Given the description of an element on the screen output the (x, y) to click on. 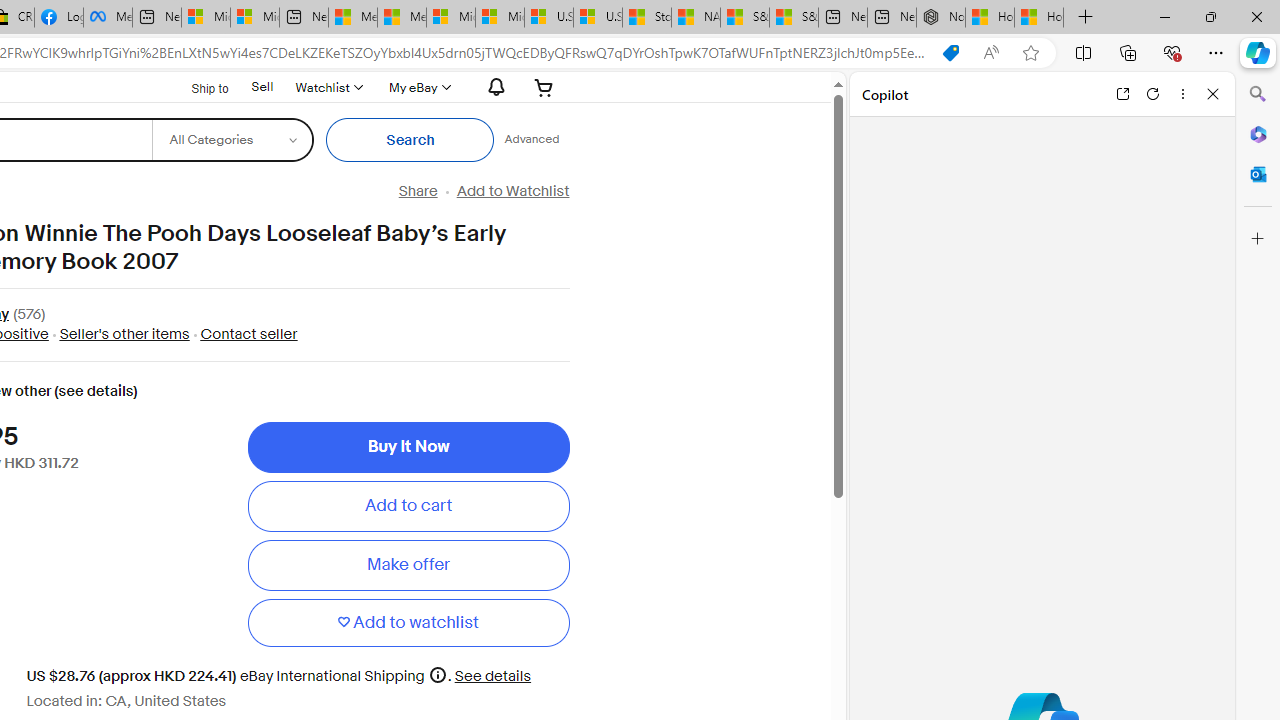
WatchlistExpand Watch List (328, 87)
  Seller's other items (118, 334)
Add to cart (408, 506)
(576) (29, 315)
Expand Cart (543, 87)
